Given the description of an element on the screen output the (x, y) to click on. 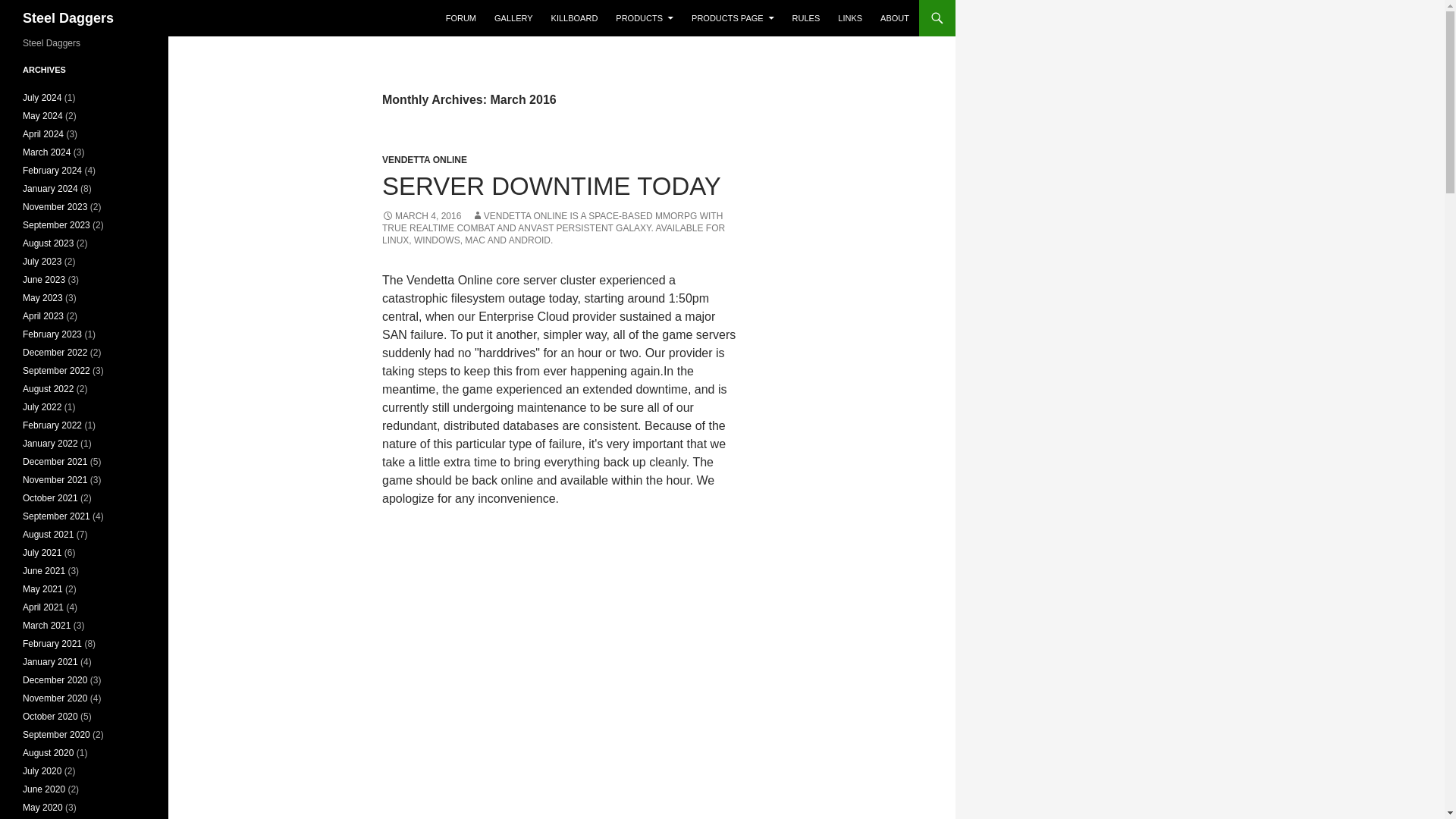
July 2023 (42, 261)
September 2022 (56, 370)
ABOUT (894, 18)
April 2023 (43, 316)
RULES (806, 18)
SERVER DOWNTIME TODAY (550, 185)
PRODUCTS (644, 18)
September 2023 (56, 225)
May 2024 (42, 115)
GALLERY (512, 18)
November 2023 (55, 206)
VENDETTA ONLINE (424, 159)
Steel Daggers (68, 18)
FORUM (460, 18)
February 2023 (52, 334)
